Given the description of an element on the screen output the (x, y) to click on. 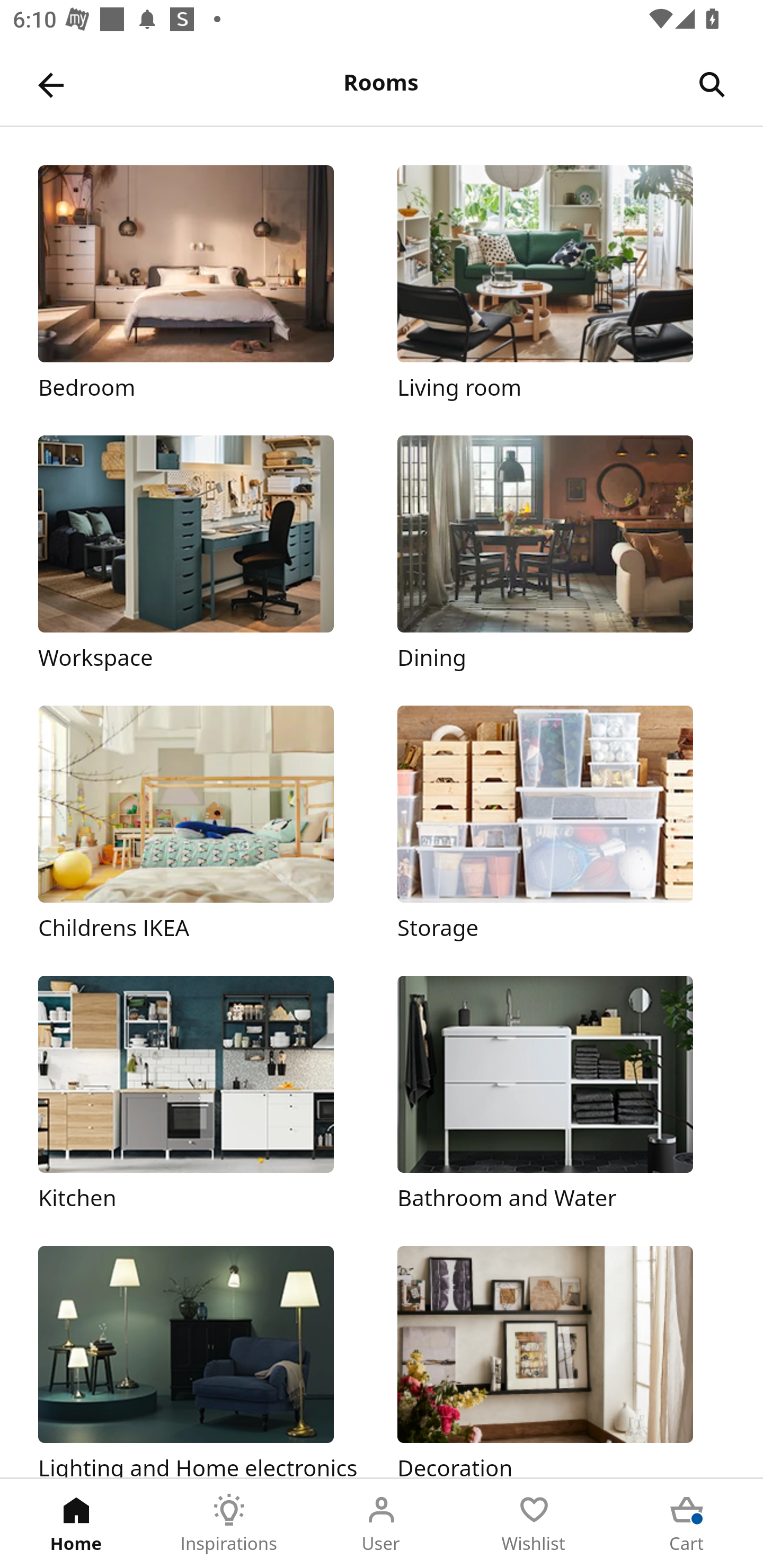
Bedroom (201, 283)
Living room (560, 283)
Workspace (201, 554)
Dining (560, 554)
Childrens IKEA (201, 824)
Storage (560, 824)
Kitchen (201, 1094)
Bathroom and Water (560, 1094)
Lighting and Home electronics (201, 1361)
Decoration (560, 1361)
Home
Tab 1 of 5 (76, 1522)
Inspirations
Tab 2 of 5 (228, 1522)
User
Tab 3 of 5 (381, 1522)
Wishlist
Tab 4 of 5 (533, 1522)
Cart
Tab 5 of 5 (686, 1522)
